Given the description of an element on the screen output the (x, y) to click on. 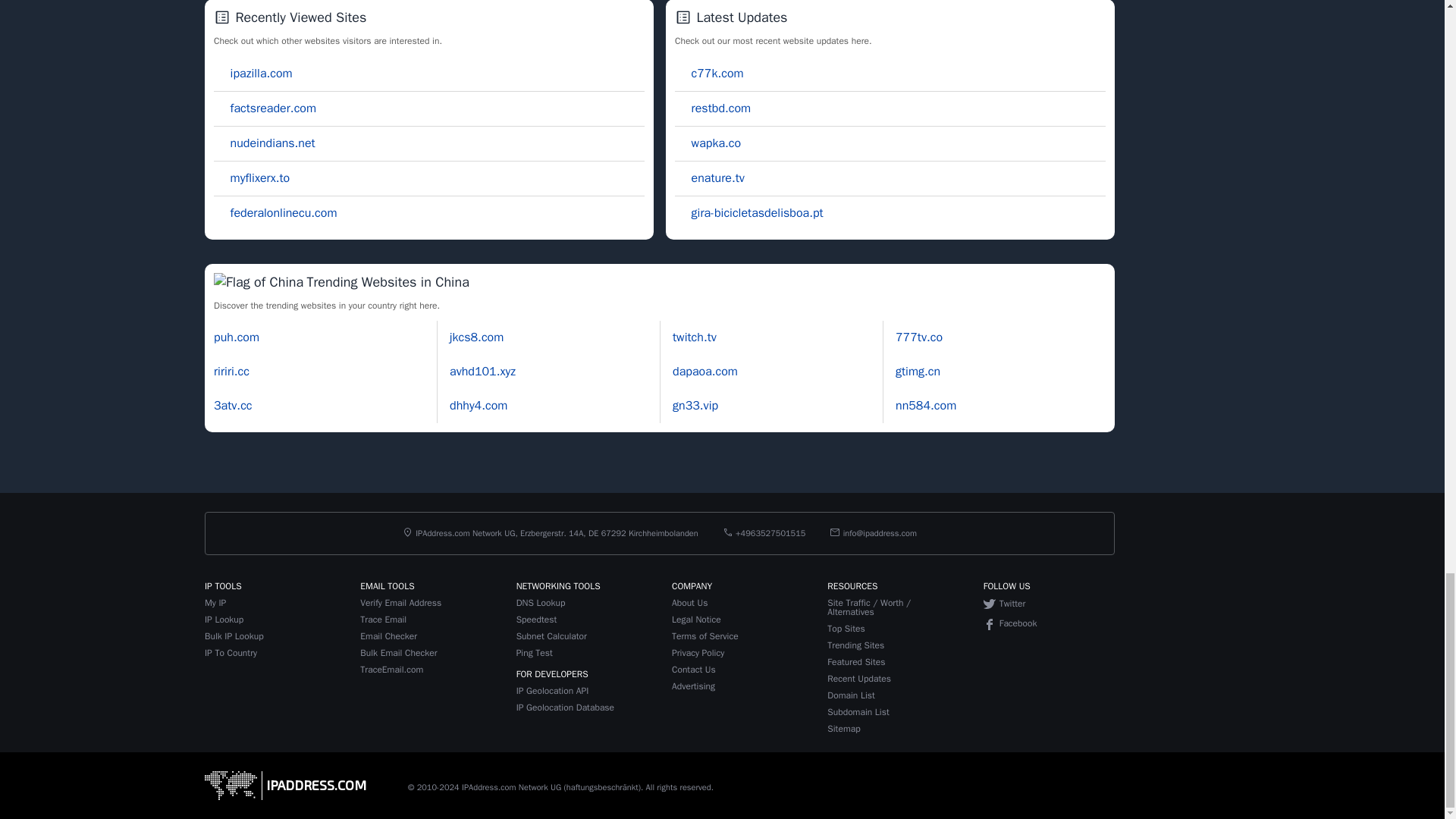
twitch.tv (694, 337)
777tv.co (918, 337)
wapka.co (708, 142)
dhhy4.com (477, 405)
ririri.cc (231, 371)
c77k.com (709, 72)
gtimg.cn (917, 371)
puh.com (236, 337)
dapaoa.com (705, 371)
nn584.com (925, 405)
factsreader.com (264, 107)
nudeindians.net (264, 142)
gira-bicicletasdelisboa.pt (749, 212)
avhd101.xyz (482, 371)
myflixerx.to (251, 177)
